Given the description of an element on the screen output the (x, y) to click on. 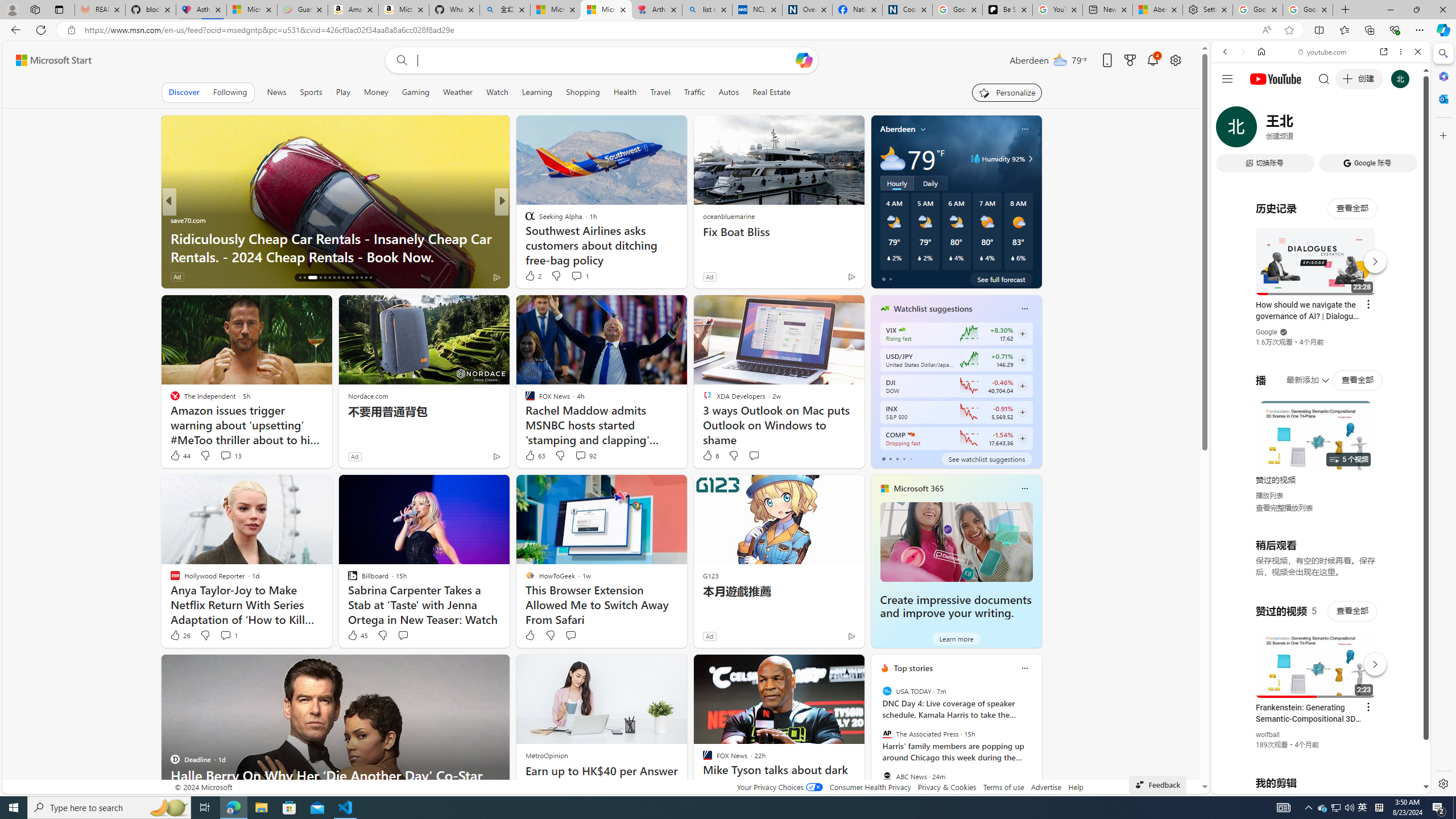
you (1315, 755)
View comments 13 Comment (230, 455)
See watchlist suggestions (986, 459)
Hide this story (830, 668)
AutomationID: tab-20 (324, 277)
YouTube (1315, 655)
AutomationID: tab-26 (352, 277)
20 Like (530, 276)
Arthritis: Ask Health Professionals (656, 9)
Shopping (582, 92)
